Given the description of an element on the screen output the (x, y) to click on. 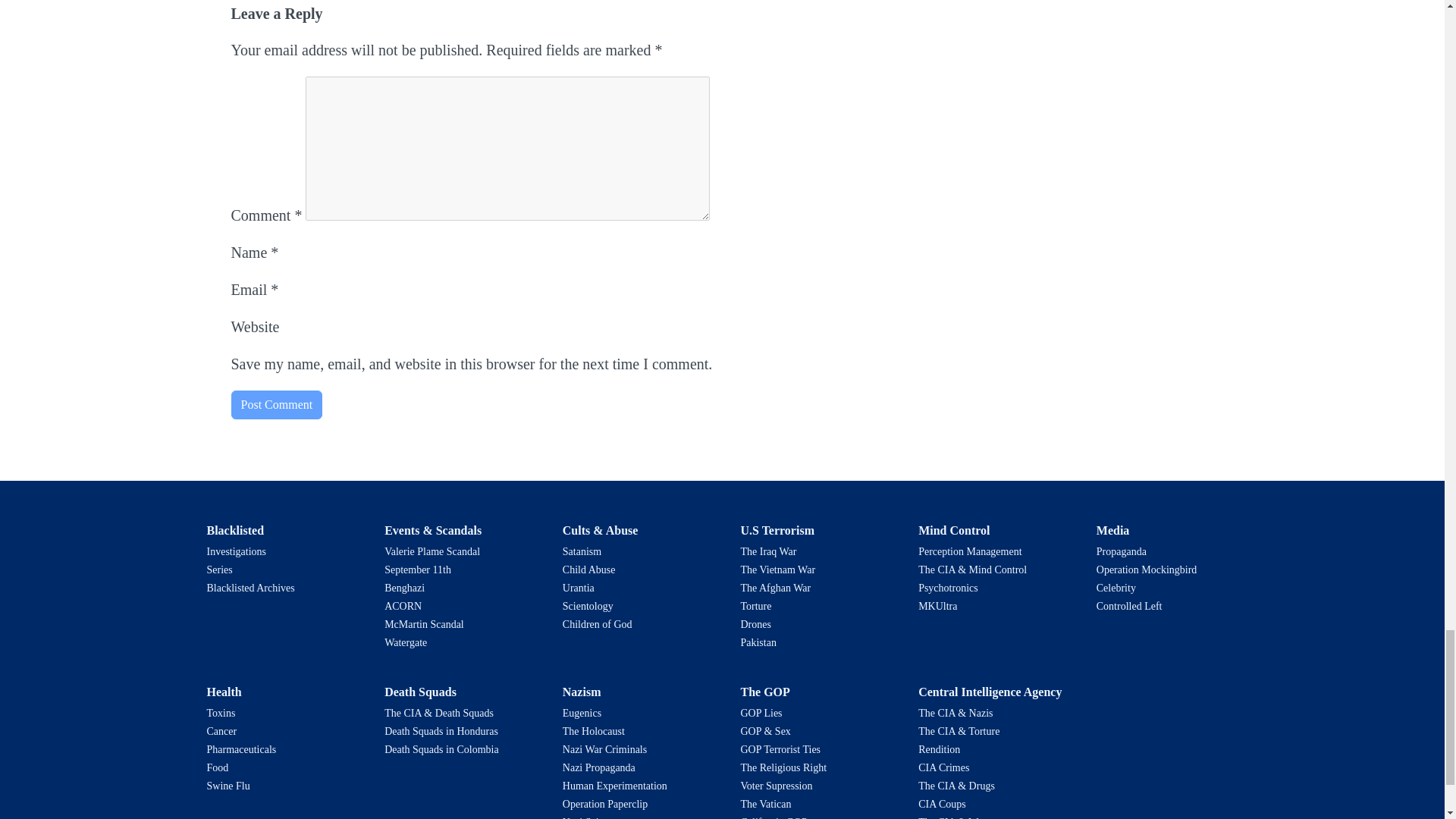
Post Comment (275, 404)
